Given the description of an element on the screen output the (x, y) to click on. 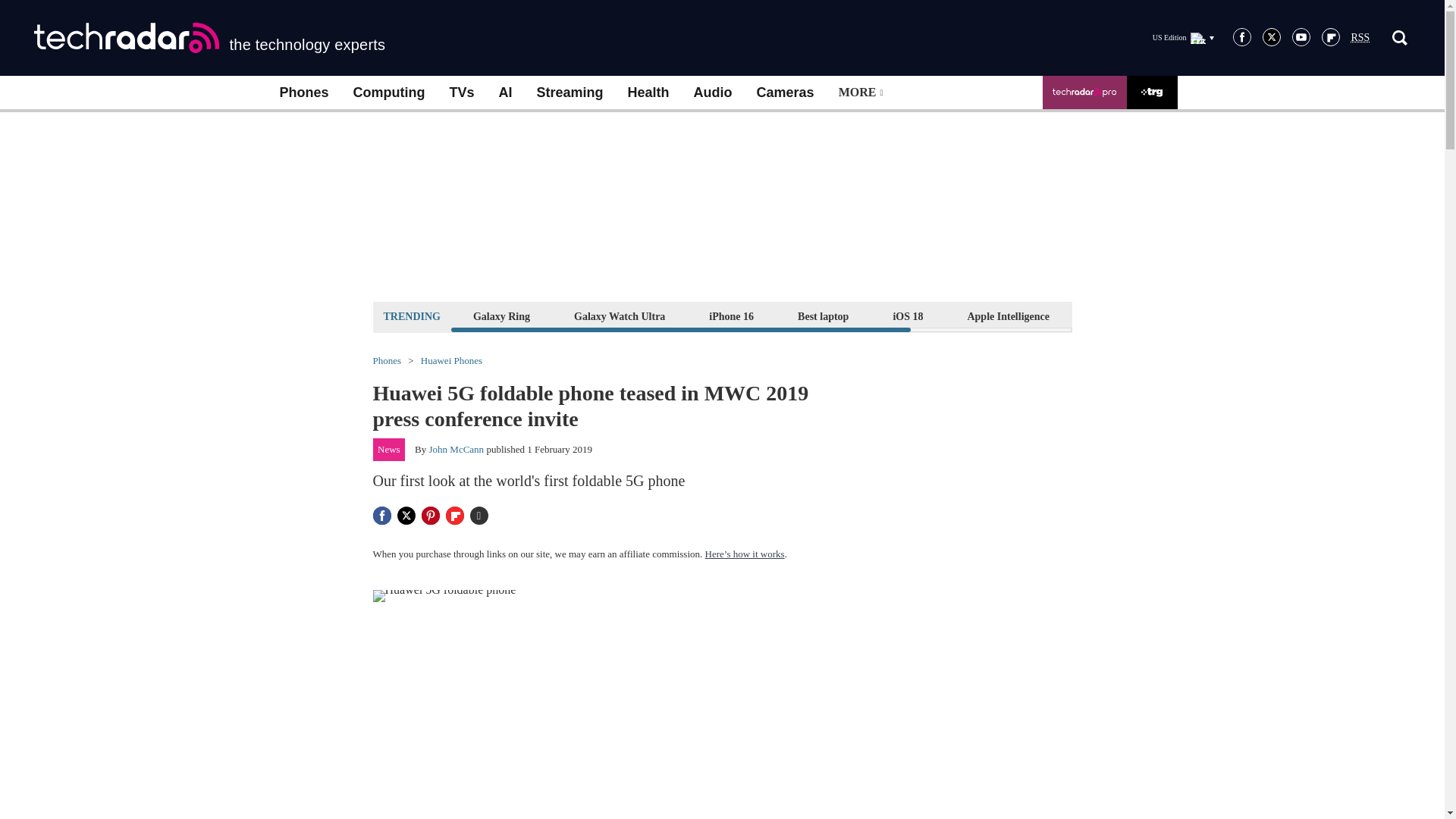
Cameras (785, 92)
Streaming (569, 92)
RSS (1360, 38)
Health (648, 92)
US Edition (1182, 37)
Really Simple Syndication (1360, 37)
TVs (461, 92)
AI (505, 92)
Phones (303, 92)
Computing (389, 92)
Audio (712, 92)
the technology experts (209, 38)
